Given the description of an element on the screen output the (x, y) to click on. 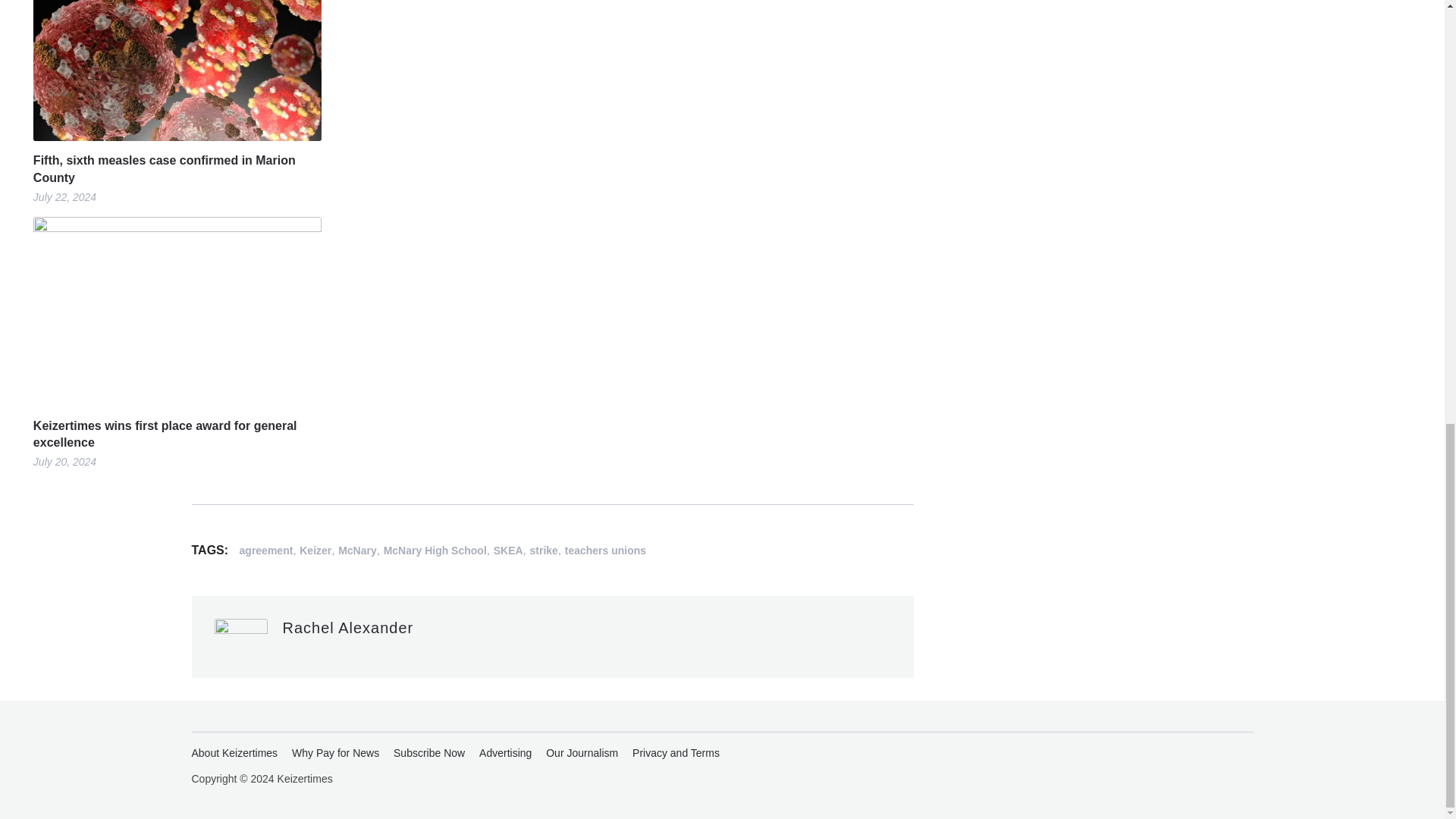
Keizertimes wins first place award for general excellence (177, 434)
Fifth, sixth measles case confirmed in Marion County (177, 169)
Posts by Rachel Alexander (347, 627)
